Given the description of an element on the screen output the (x, y) to click on. 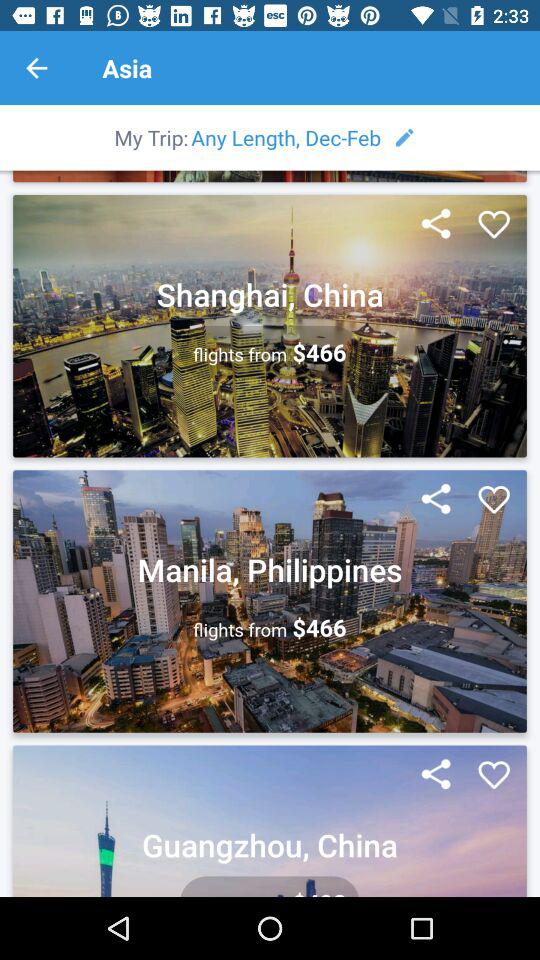
open icon to the left of asia item (36, 68)
